Given the description of an element on the screen output the (x, y) to click on. 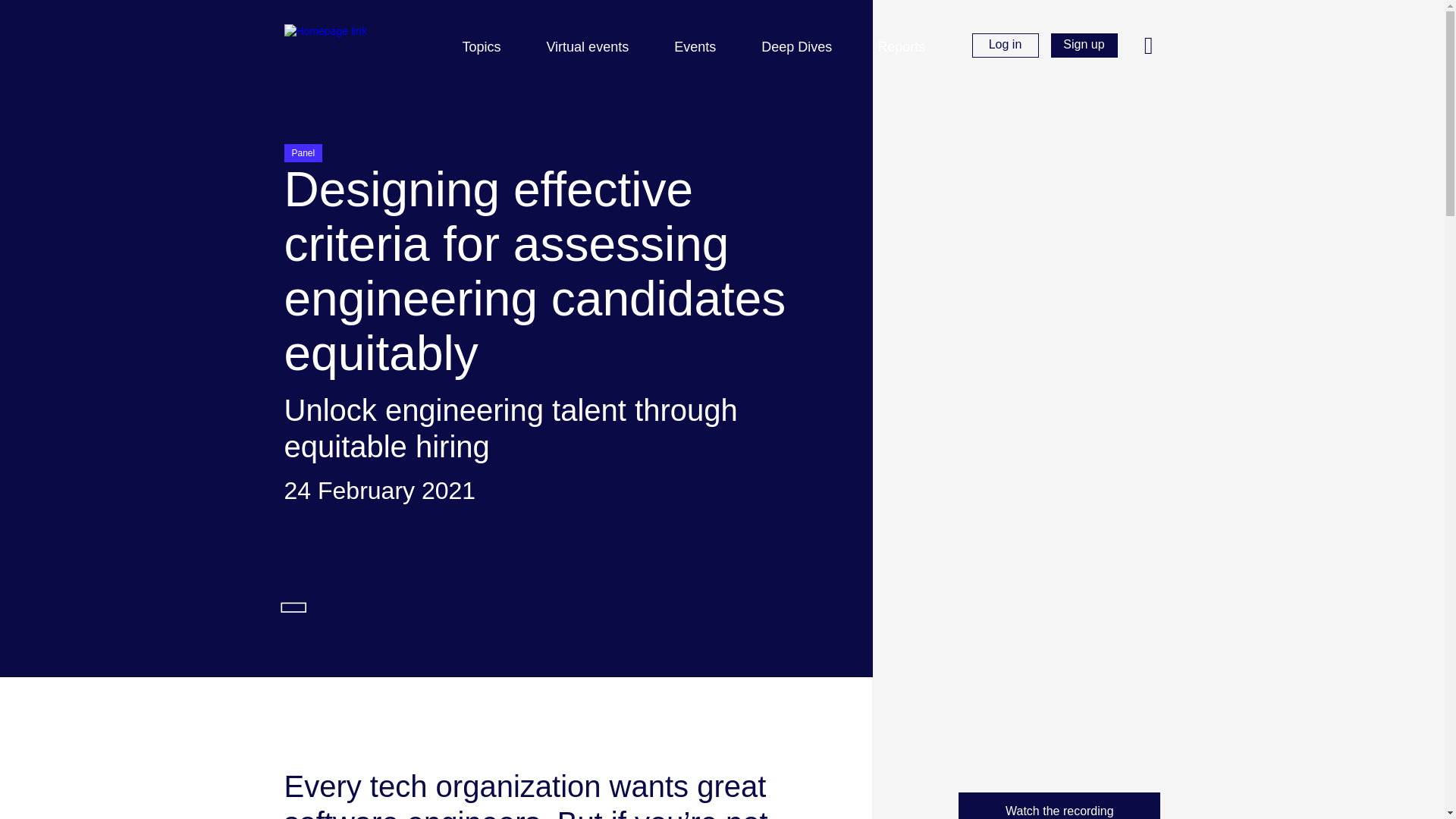
Topics (491, 46)
Virtual events (598, 46)
